Given the description of an element on the screen output the (x, y) to click on. 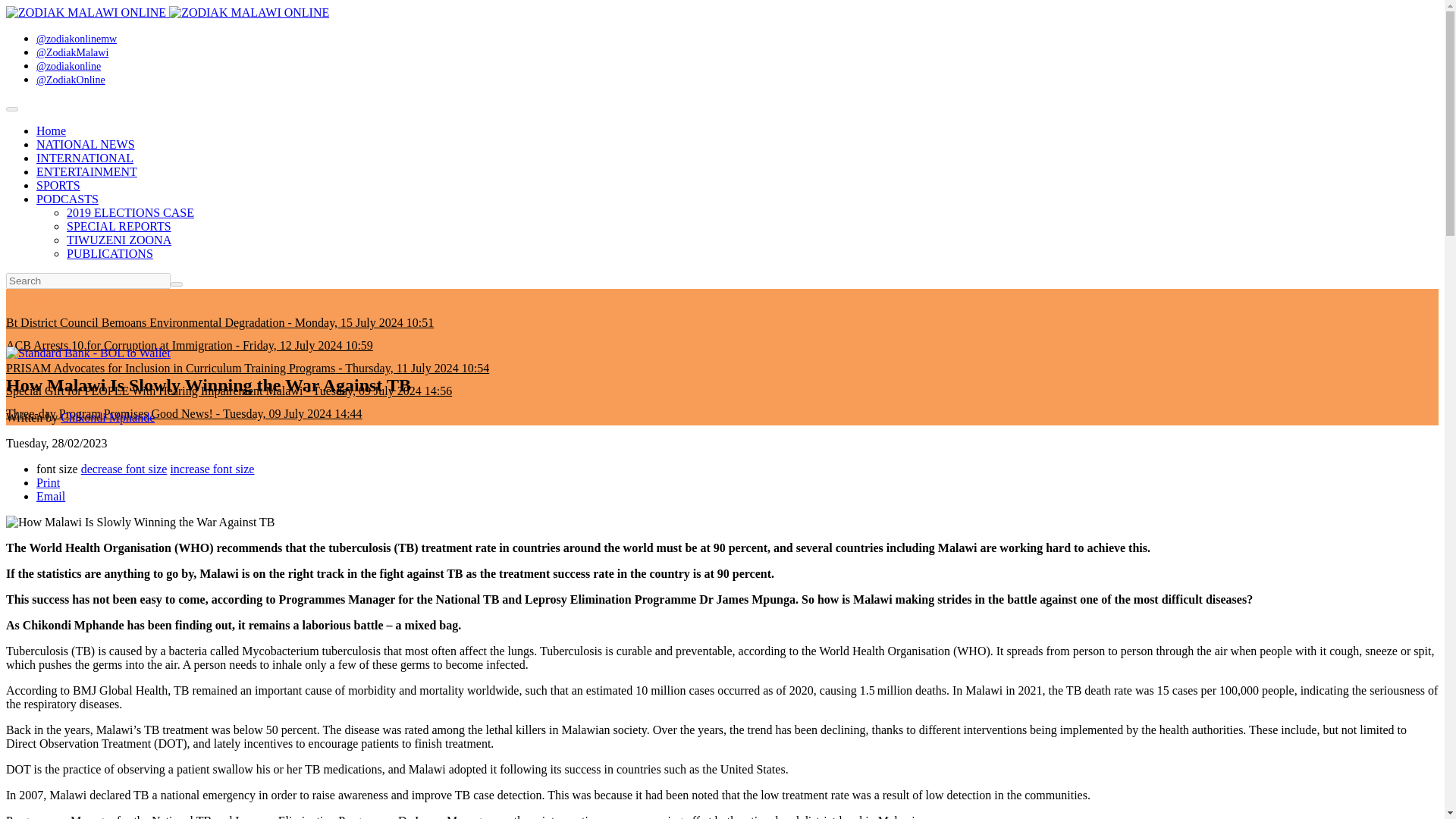
increase font size (211, 468)
Email (50, 495)
SPECIAL REPORTS (118, 226)
Chikondi Mphande (107, 417)
Go (176, 283)
NATIONAL NEWS (85, 144)
INTERNATIONAL (84, 157)
Print (47, 481)
Standard Bank - BOL to Wallet (87, 353)
SPORTS (58, 185)
TIWUZENI ZOONA (118, 239)
